Given the description of an element on the screen output the (x, y) to click on. 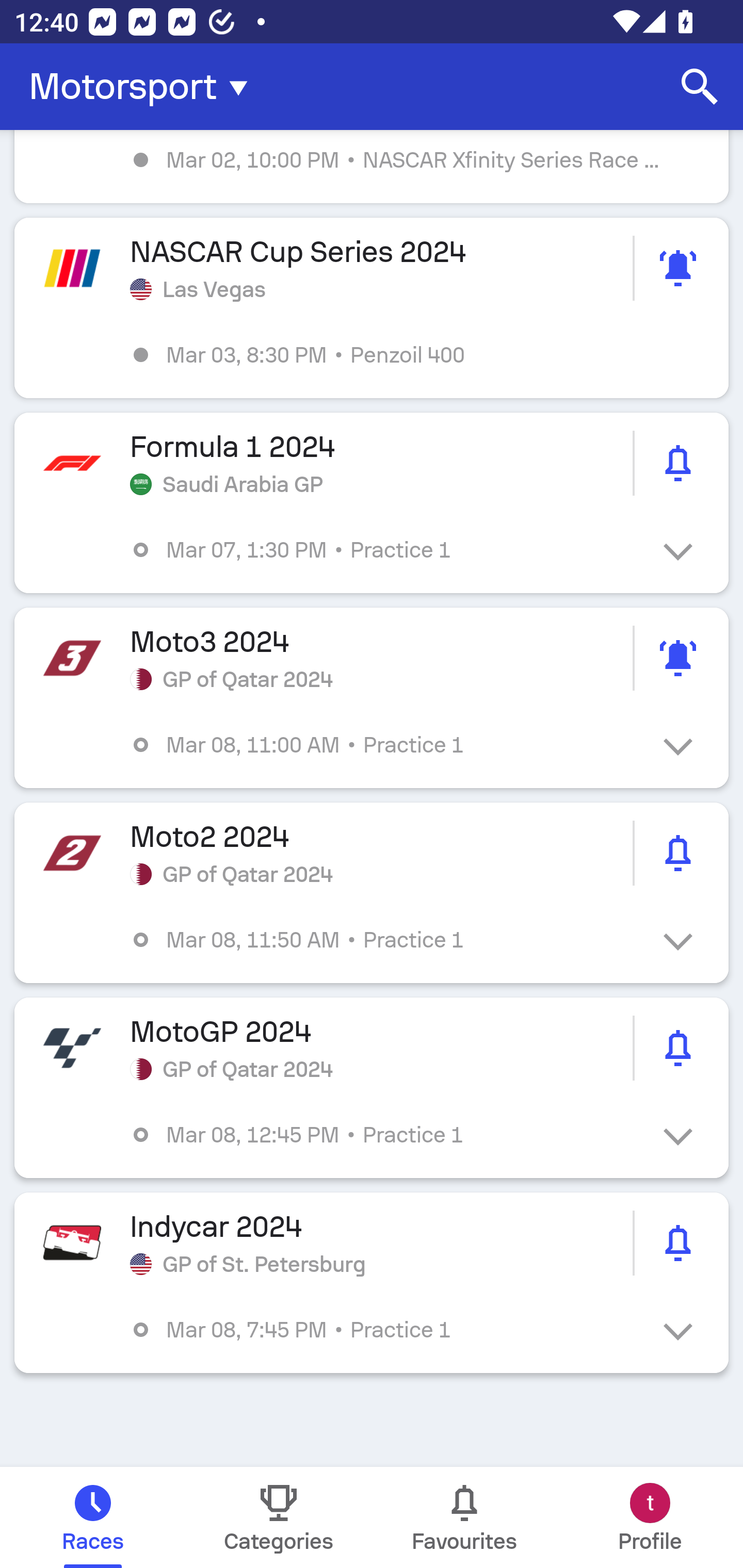
Motorsport (144, 86)
Search (699, 86)
Mar 07, 1:30 PM • Practice 1 (385, 549)
Mar 08, 11:00 AM • Practice 1 (385, 744)
Mar 08, 11:50 AM • Practice 1 (385, 939)
Mar 08, 12:45 PM • Practice 1 (385, 1134)
Mar 08, 7:45 PM • Practice 1 (385, 1329)
Categories (278, 1517)
Favourites (464, 1517)
Profile (650, 1517)
